Given the description of an element on the screen output the (x, y) to click on. 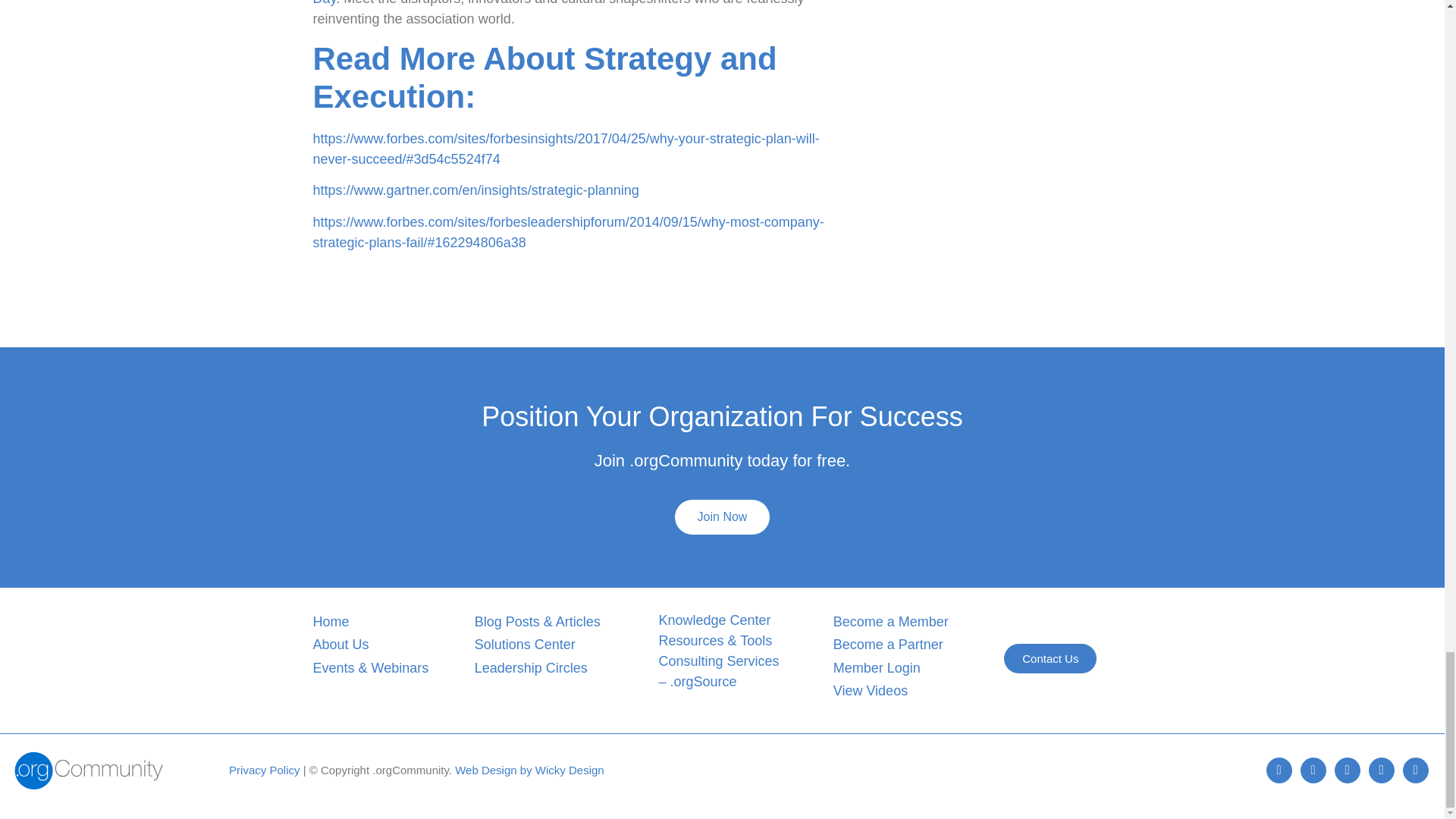
Join Now (722, 516)
Knowledge Center (714, 619)
Leadership Circles (531, 667)
Home (331, 620)
Solutions Day.  (567, 2)
Solutions Center (524, 644)
Become a Member (890, 620)
About Us (340, 644)
